Given the description of an element on the screen output the (x, y) to click on. 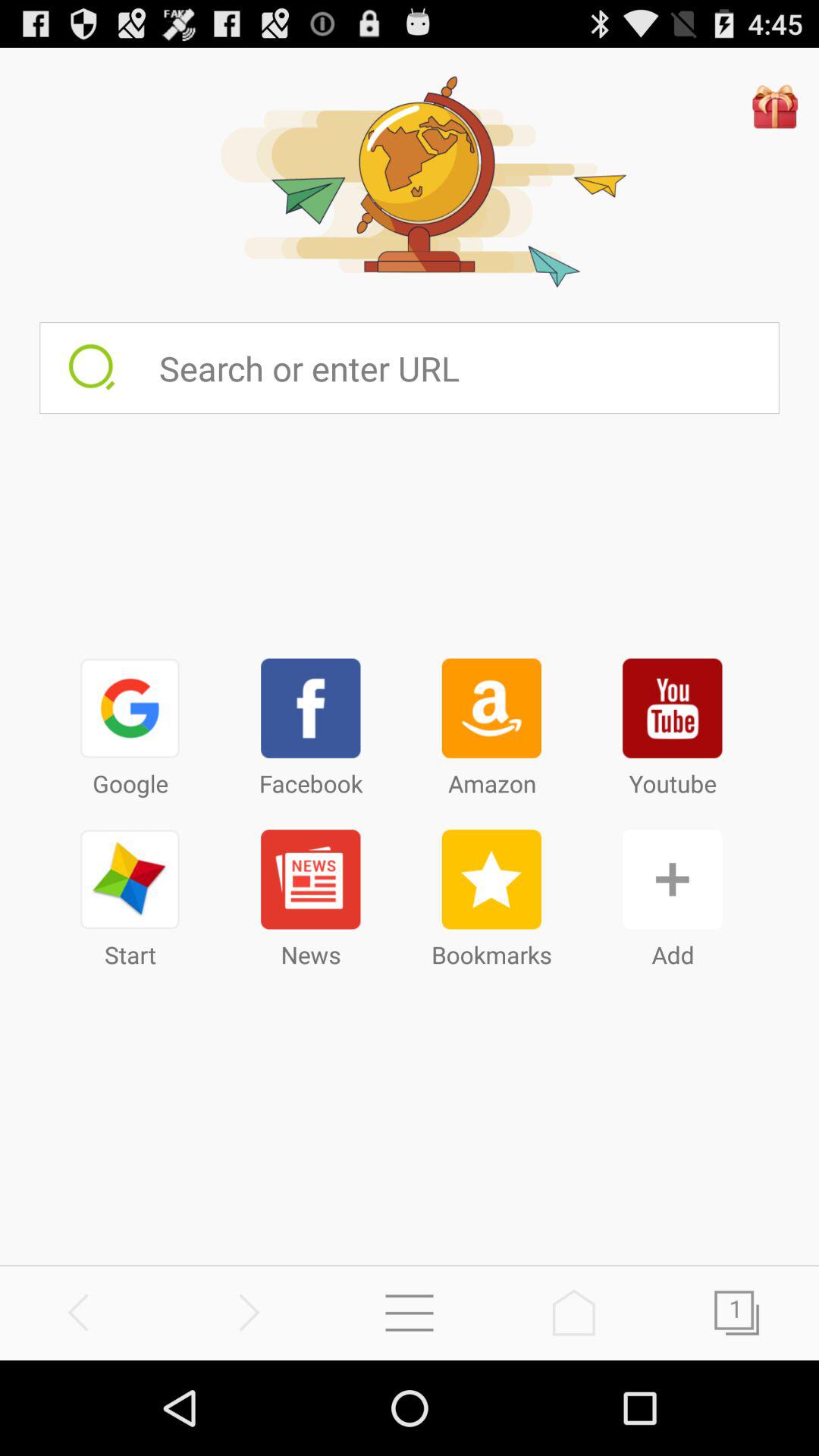
gift hambor (775, 105)
